Given the description of an element on the screen output the (x, y) to click on. 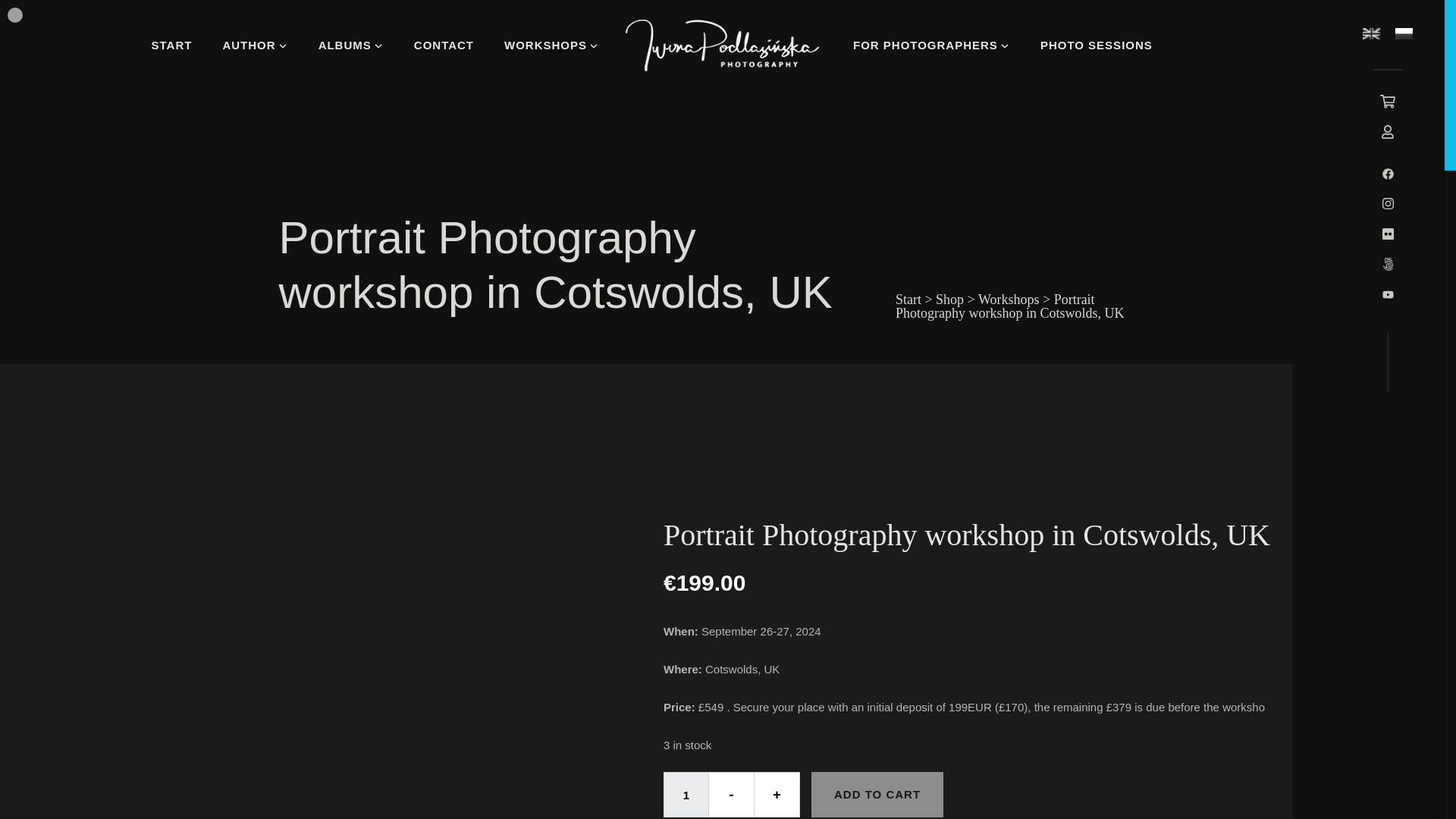
Qty (686, 794)
AUTHOR (254, 45)
WORKSHOPS (551, 45)
ALBUMS (350, 45)
FOR PHOTOGRAPHERS (931, 45)
CONTACT (443, 45)
PHOTO SESSIONS (1096, 45)
1 (686, 794)
